Given the description of an element on the screen output the (x, y) to click on. 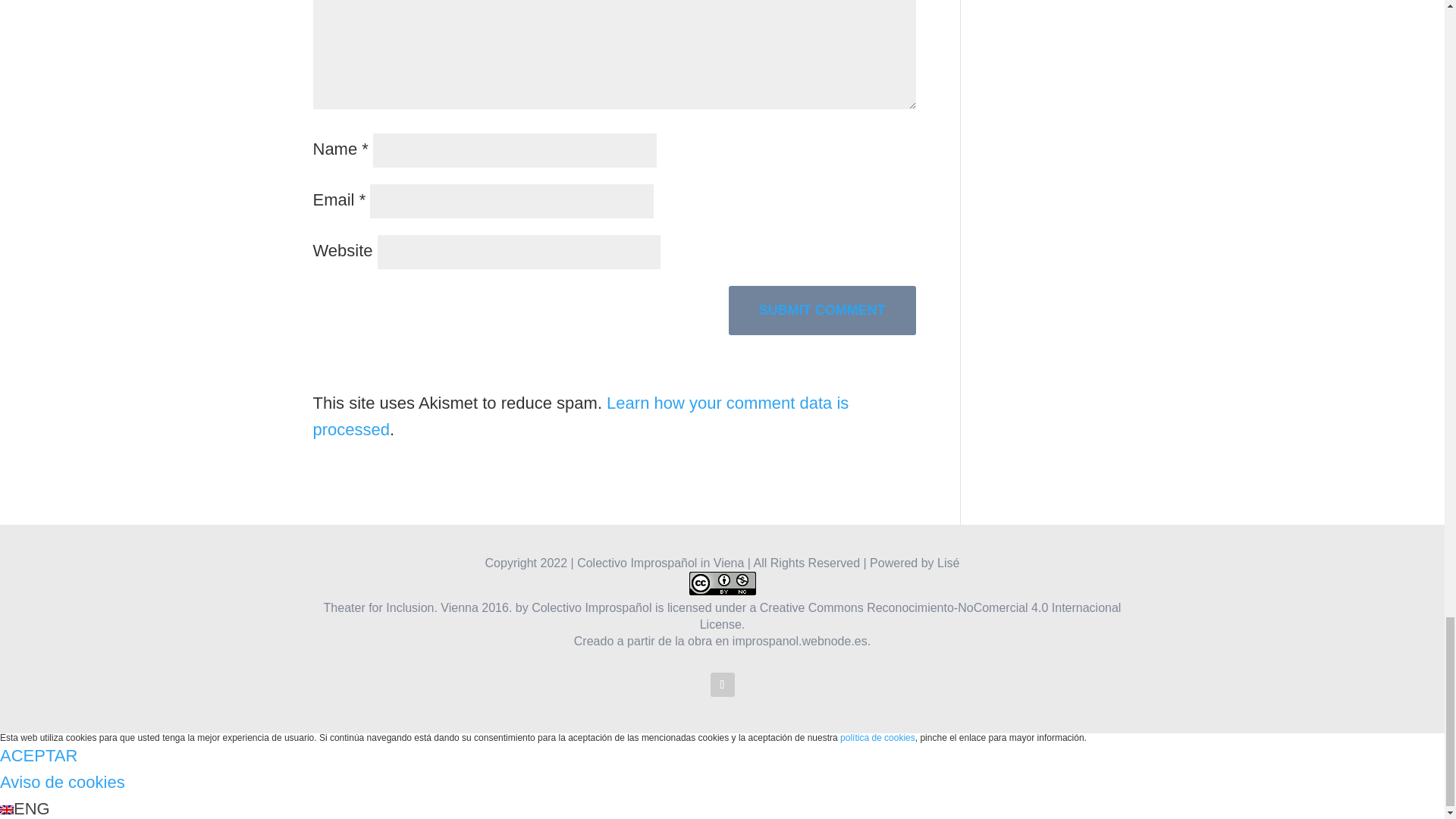
Learn how your comment data is processed (580, 415)
Submit Comment (822, 309)
ACEPTAR (38, 755)
Follow on Facebook (721, 684)
Submit Comment (822, 309)
improspanol.webnode.es (799, 640)
Aviso de cookies (62, 782)
